Given the description of an element on the screen output the (x, y) to click on. 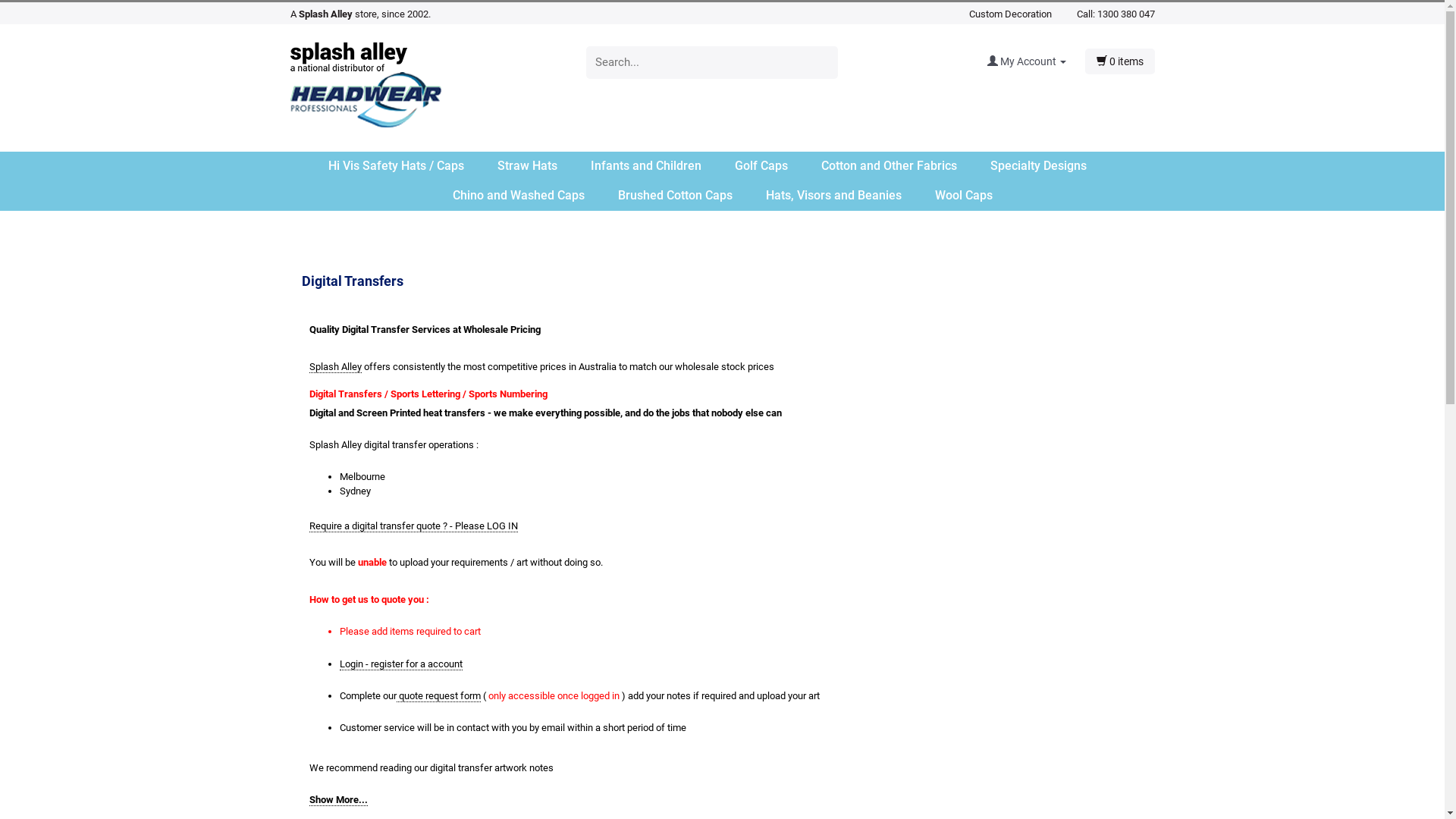
Custom Decoration Element type: text (1010, 13)
Specialty Designs Element type: text (1053, 166)
quote request form Element type: text (437, 696)
Straw Hats Element type: text (542, 166)
Hats, Visors and Beanies Element type: text (848, 195)
Brushed Cotton Caps Element type: text (689, 195)
Login - register for a account Element type: text (400, 664)
Golf Caps Element type: text (775, 166)
1300 380 047 Element type: text (1125, 13)
Infants and Children Element type: text (660, 166)
Wool Caps Element type: text (962, 195)
My Account Element type: text (1036, 61)
Cotton and Other Fabrics Element type: text (903, 166)
Chino and Washed Caps Element type: text (532, 195)
Hi Vis Safety Hats / Caps Element type: text (410, 166)
Show More... Element type: text (338, 799)
Require a digital transfer quote ? - Please LOG IN Element type: text (413, 526)
Splash Alley Element type: text (335, 366)
